Given the description of an element on the screen output the (x, y) to click on. 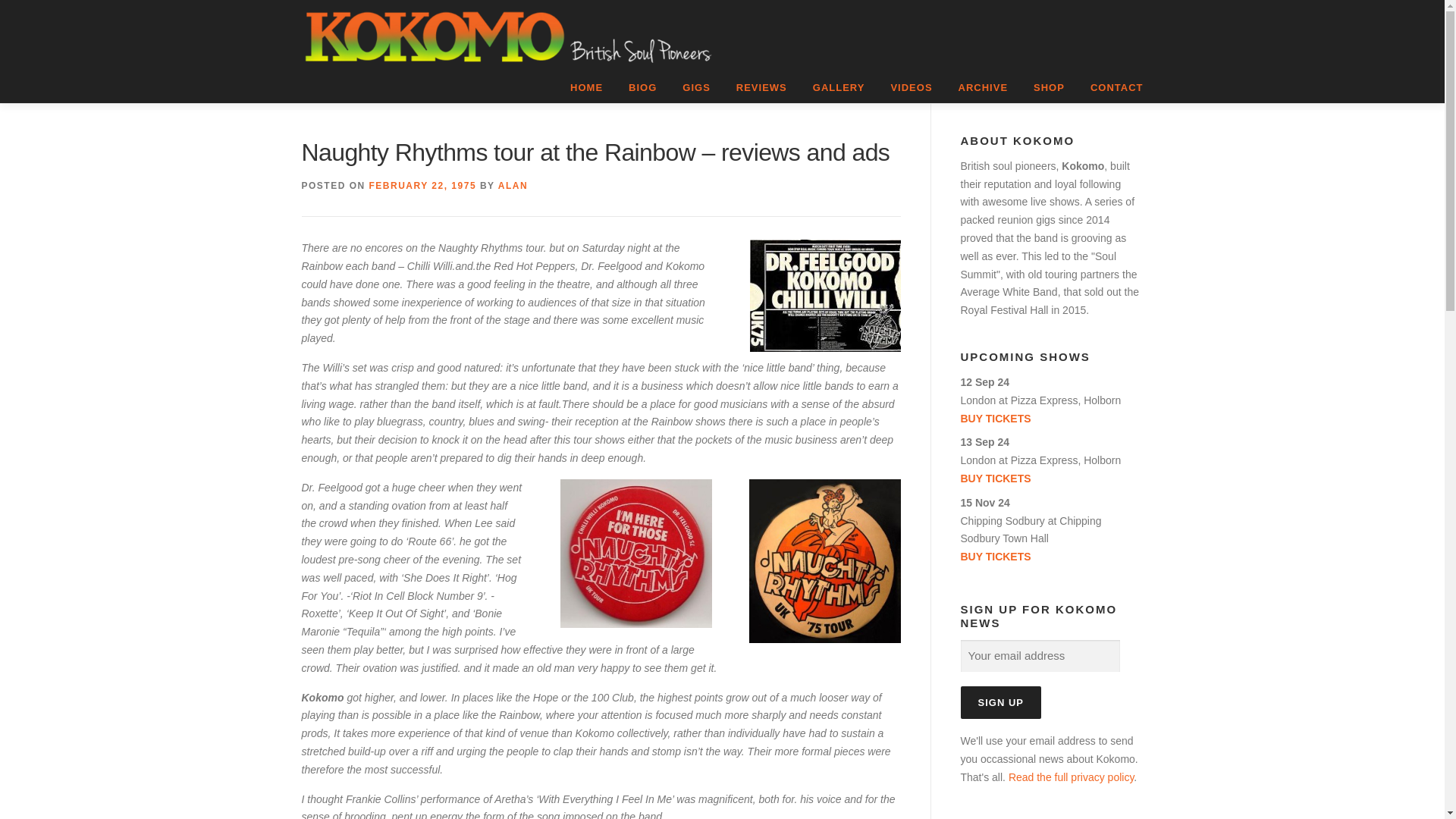
GALLERY (838, 87)
VIDEOS (910, 87)
ALAN (512, 185)
BIOG (642, 87)
BUY TICKETS (1050, 556)
FEBRUARY 22, 1975 (423, 185)
Sign up (1000, 702)
HOME (586, 87)
BUY TICKETS (1050, 419)
ARCHIVE (983, 87)
